Given the description of an element on the screen output the (x, y) to click on. 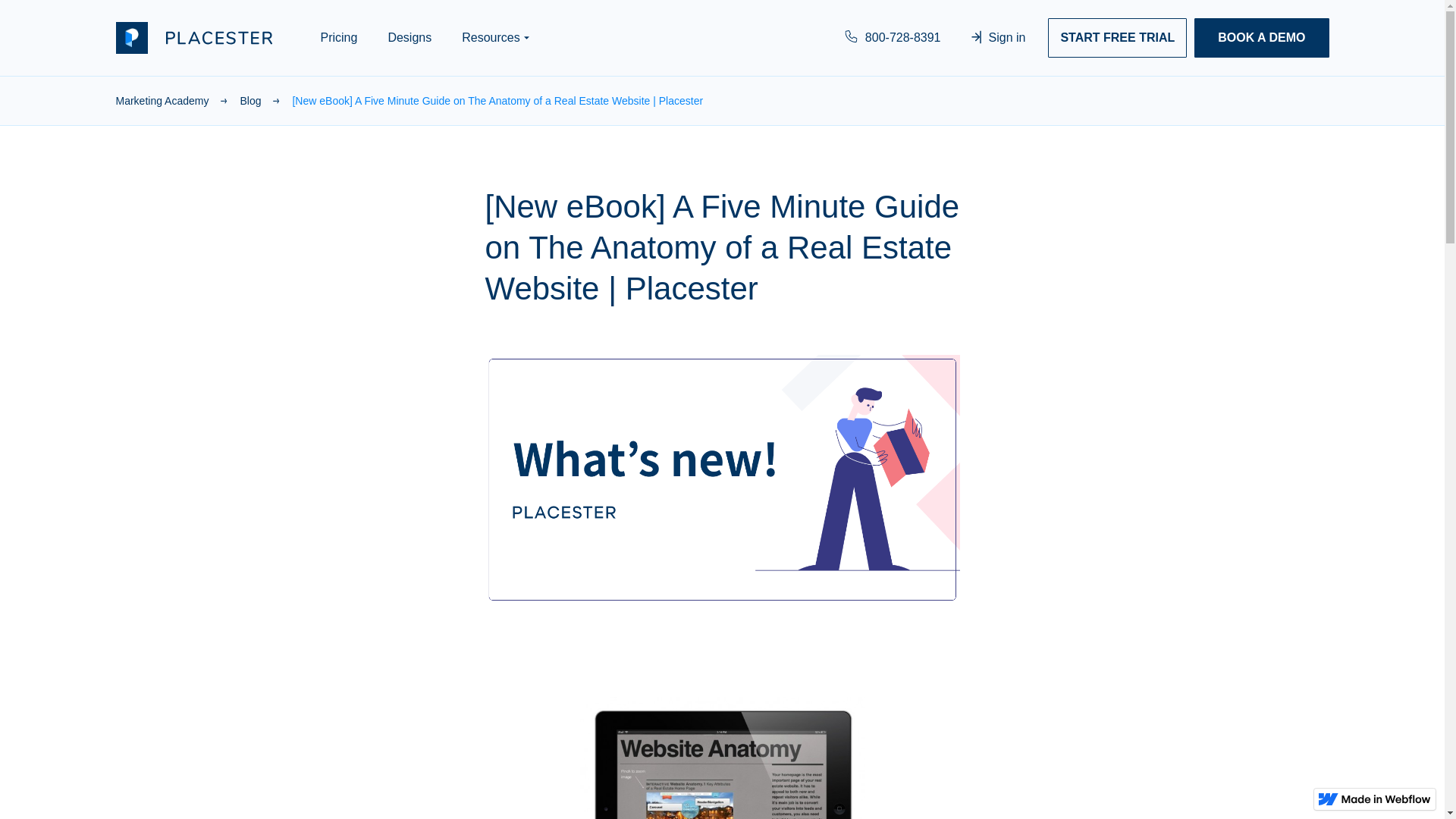
BOOK A DEMO (1260, 37)
Pricing (338, 37)
Marketing Academy (177, 100)
START FREE TRIAL (1117, 37)
800-728-8391 (892, 37)
Sign in (998, 37)
Blog (266, 100)
Designs (409, 37)
